Given the description of an element on the screen output the (x, y) to click on. 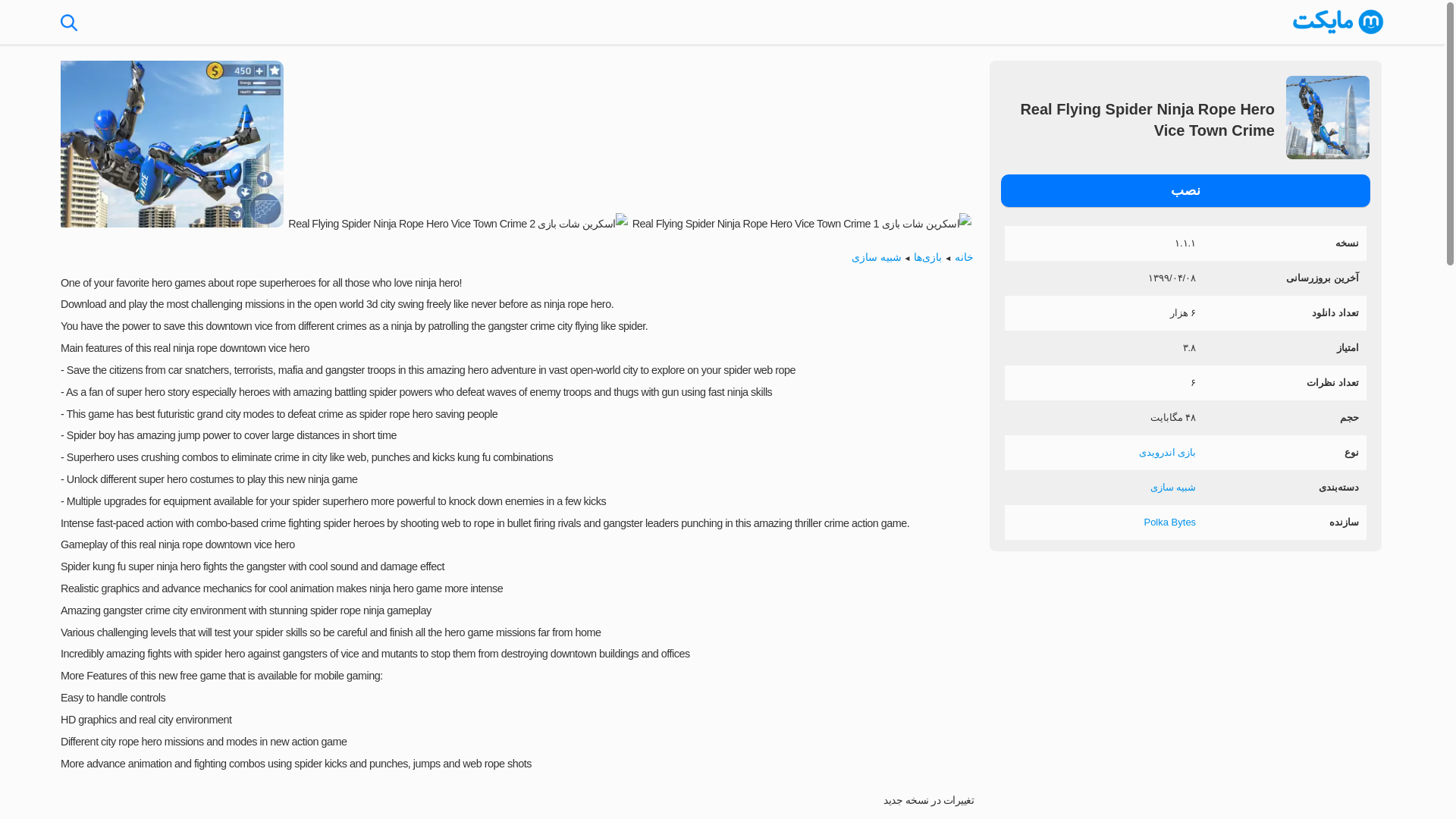
Polka Bytes (1168, 521)
Polka Bytes (1168, 521)
Real Flying Spider Ninja Rope Hero Vice Town Crime (1186, 190)
